Given the description of an element on the screen output the (x, y) to click on. 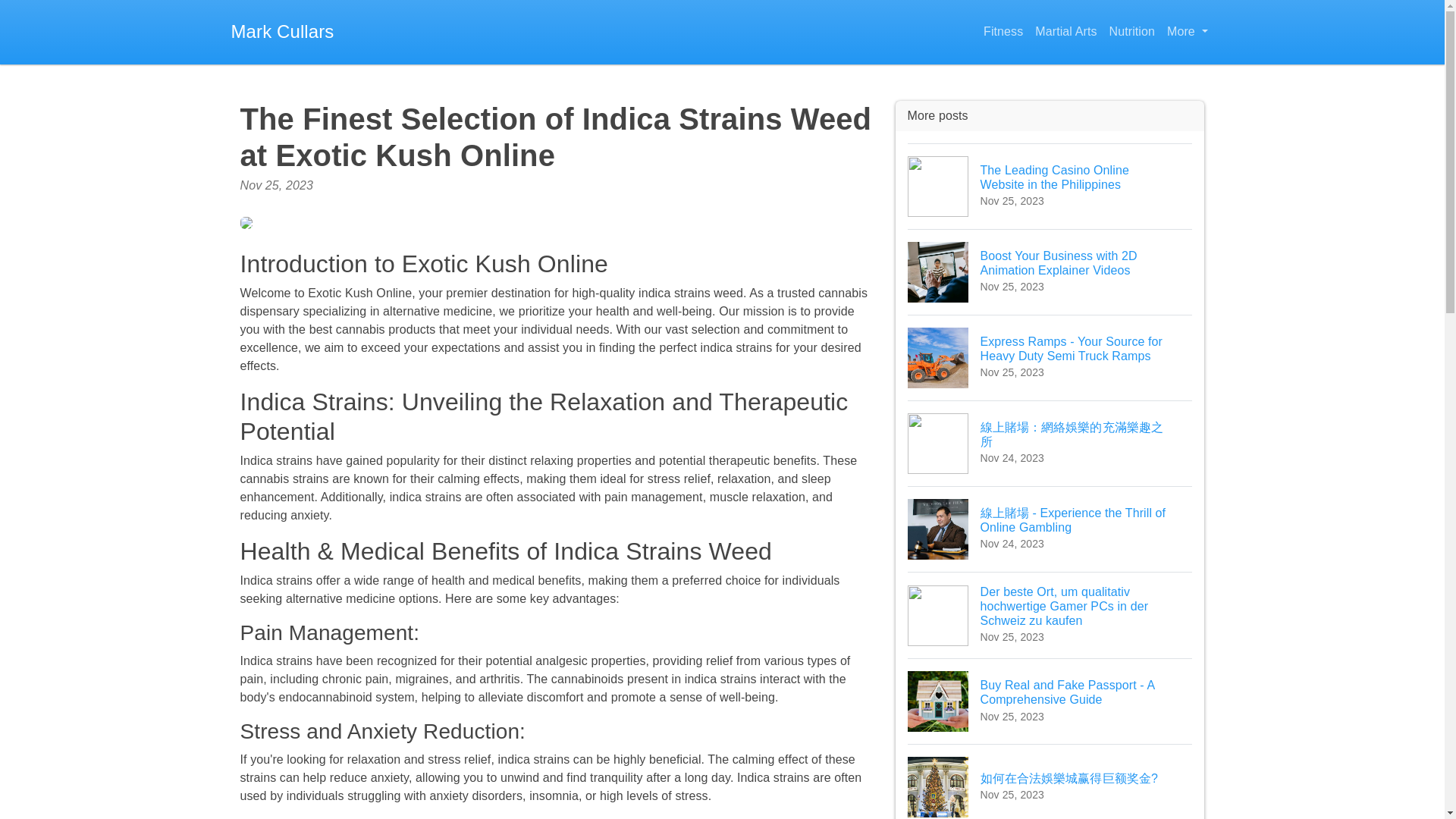
Mark Cullars (281, 31)
More (1186, 32)
Fitness (1002, 32)
Martial Arts (1065, 32)
Nutrition (1131, 32)
